Given the description of an element on the screen output the (x, y) to click on. 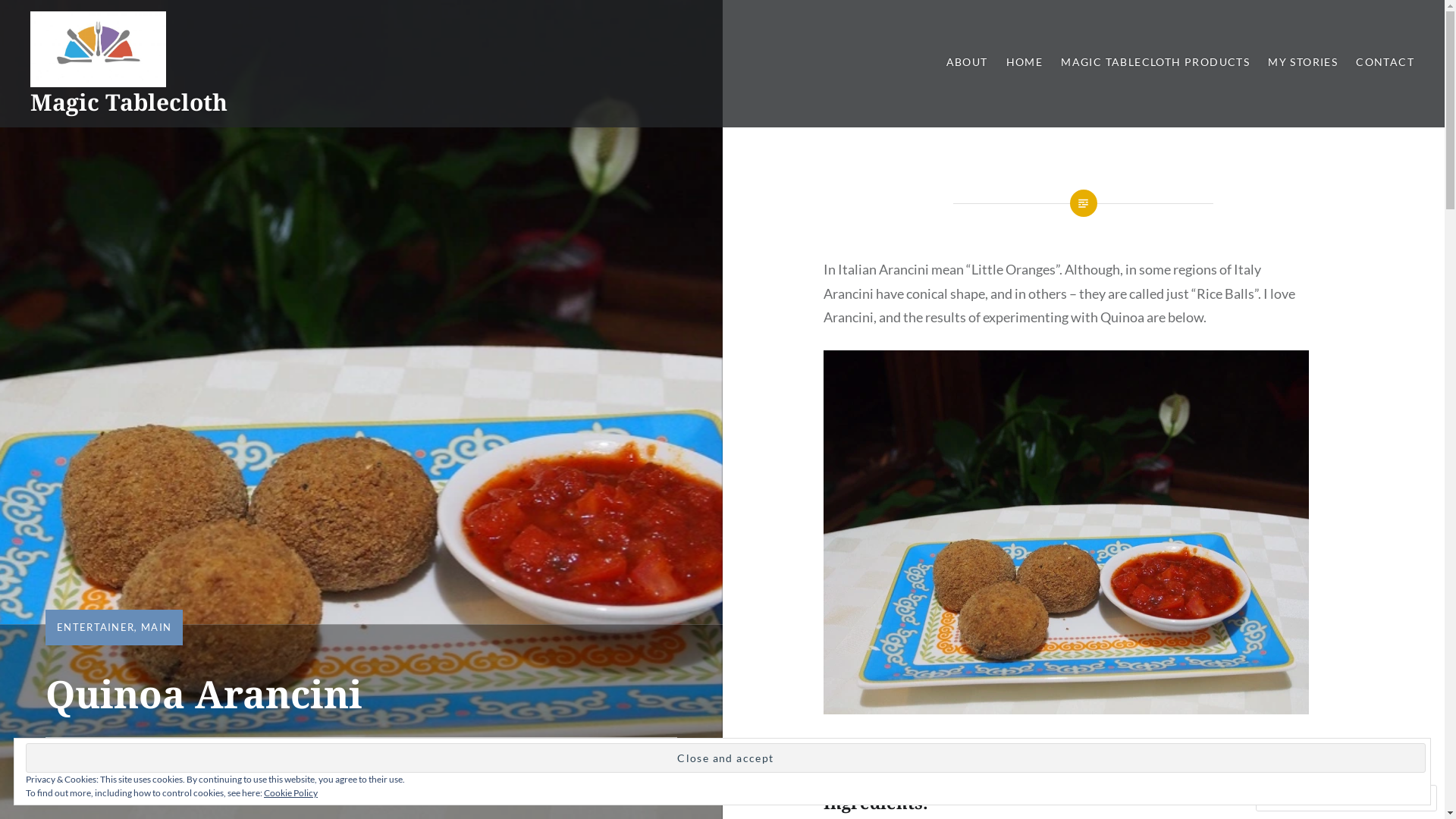
Cookie Policy Element type: text (290, 792)
CONTACT Element type: text (1384, 62)
MAGIC TABLECLOTH PRODUCTS Element type: text (1154, 62)
Comment Element type: text (1297, 797)
HOME Element type: text (1024, 62)
Close and accept Element type: text (725, 757)
ABOUT Element type: text (967, 62)
Follow Element type: text (1372, 797)
ENTERTAINER Element type: text (95, 627)
MY STORIES Element type: text (1302, 62)
Magic Tablecloth Element type: text (128, 101)
MAIN Element type: text (156, 627)
JUNE 16, 2014 Element type: text (91, 764)
